Given the description of an element on the screen output the (x, y) to click on. 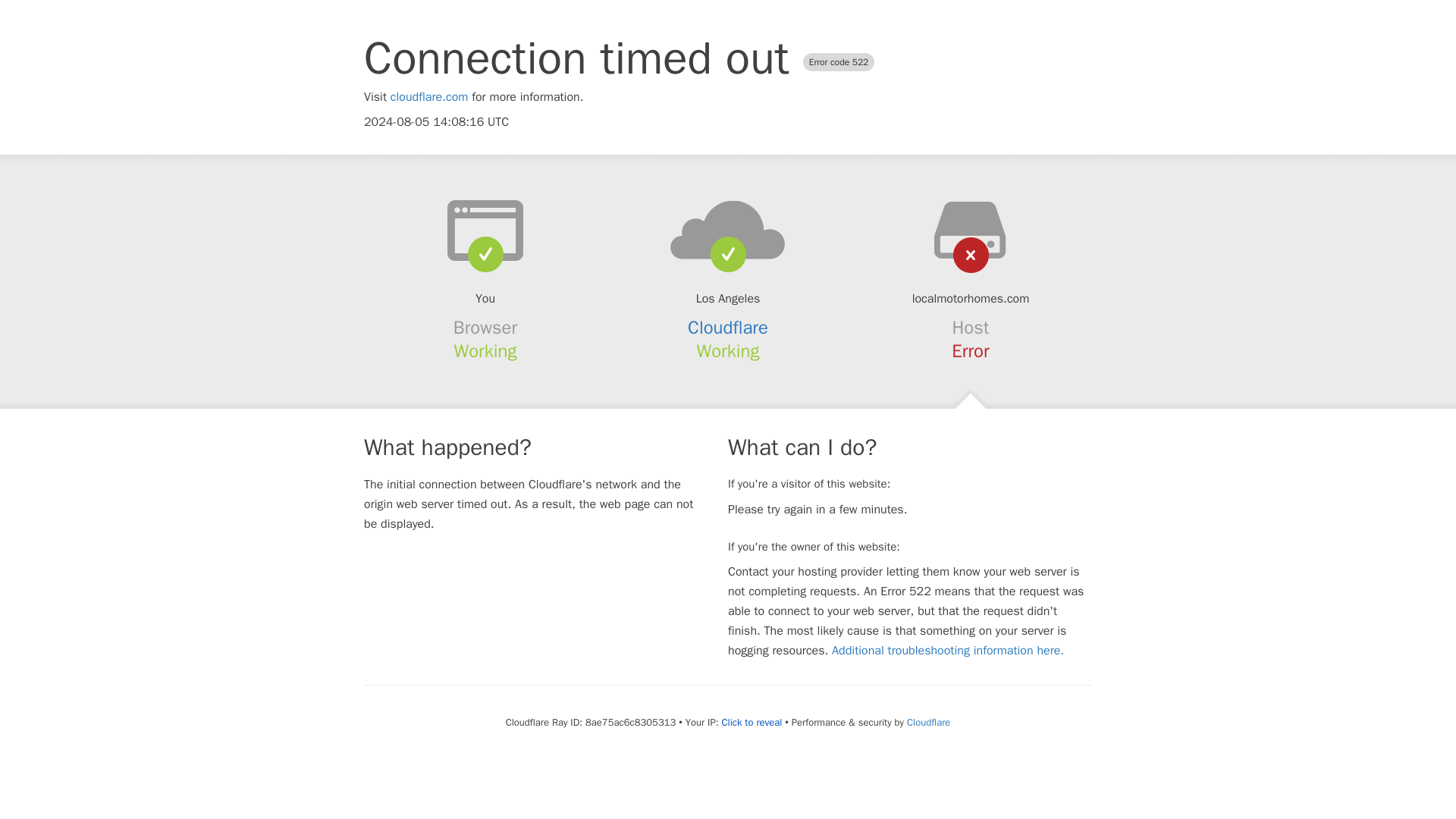
Click to reveal (750, 722)
Cloudflare (928, 721)
Additional troubleshooting information here. (947, 650)
Cloudflare (727, 327)
cloudflare.com (429, 96)
